Given the description of an element on the screen output the (x, y) to click on. 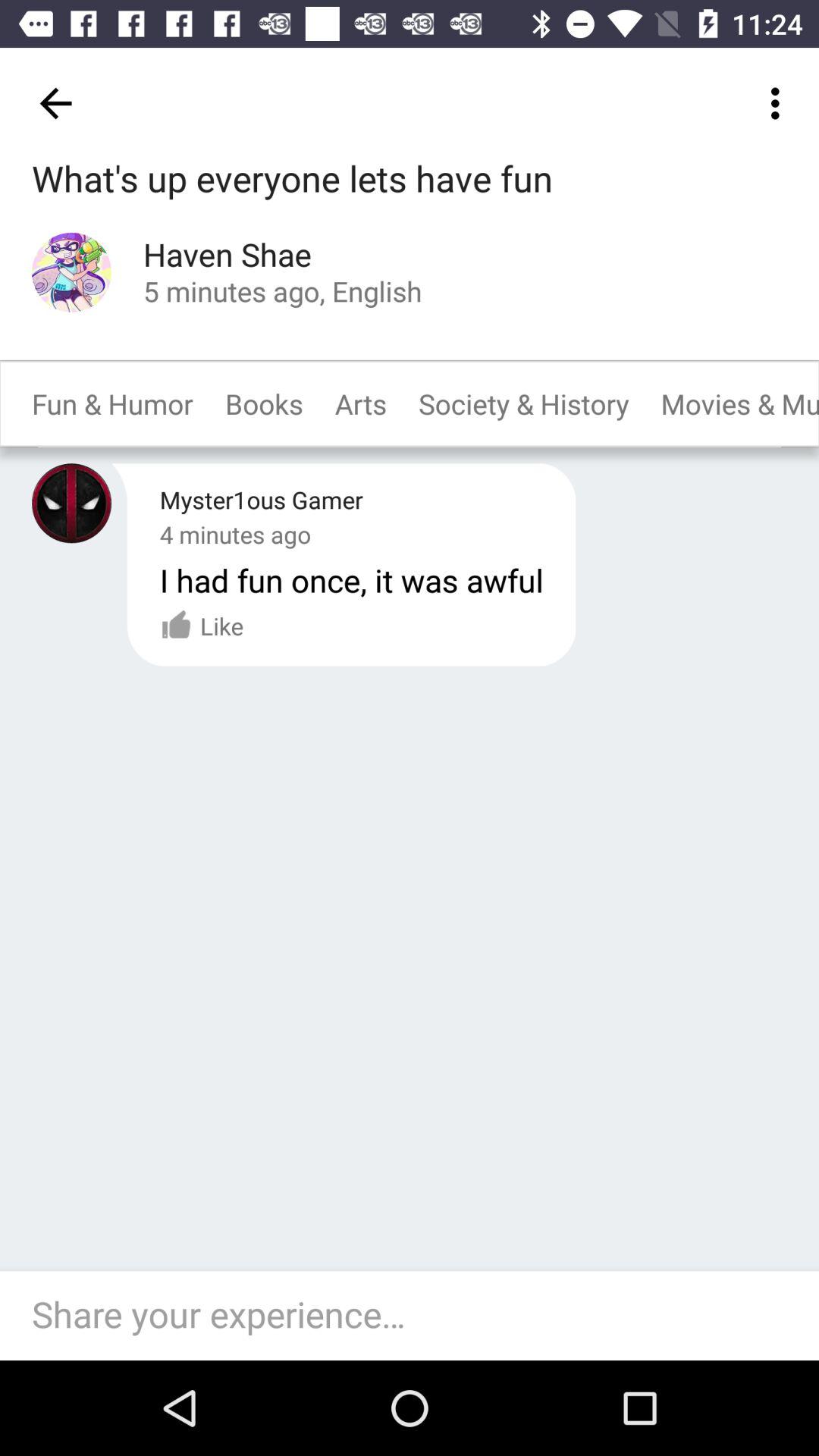
choose icon above the movies & music icon (779, 103)
